Given the description of an element on the screen output the (x, y) to click on. 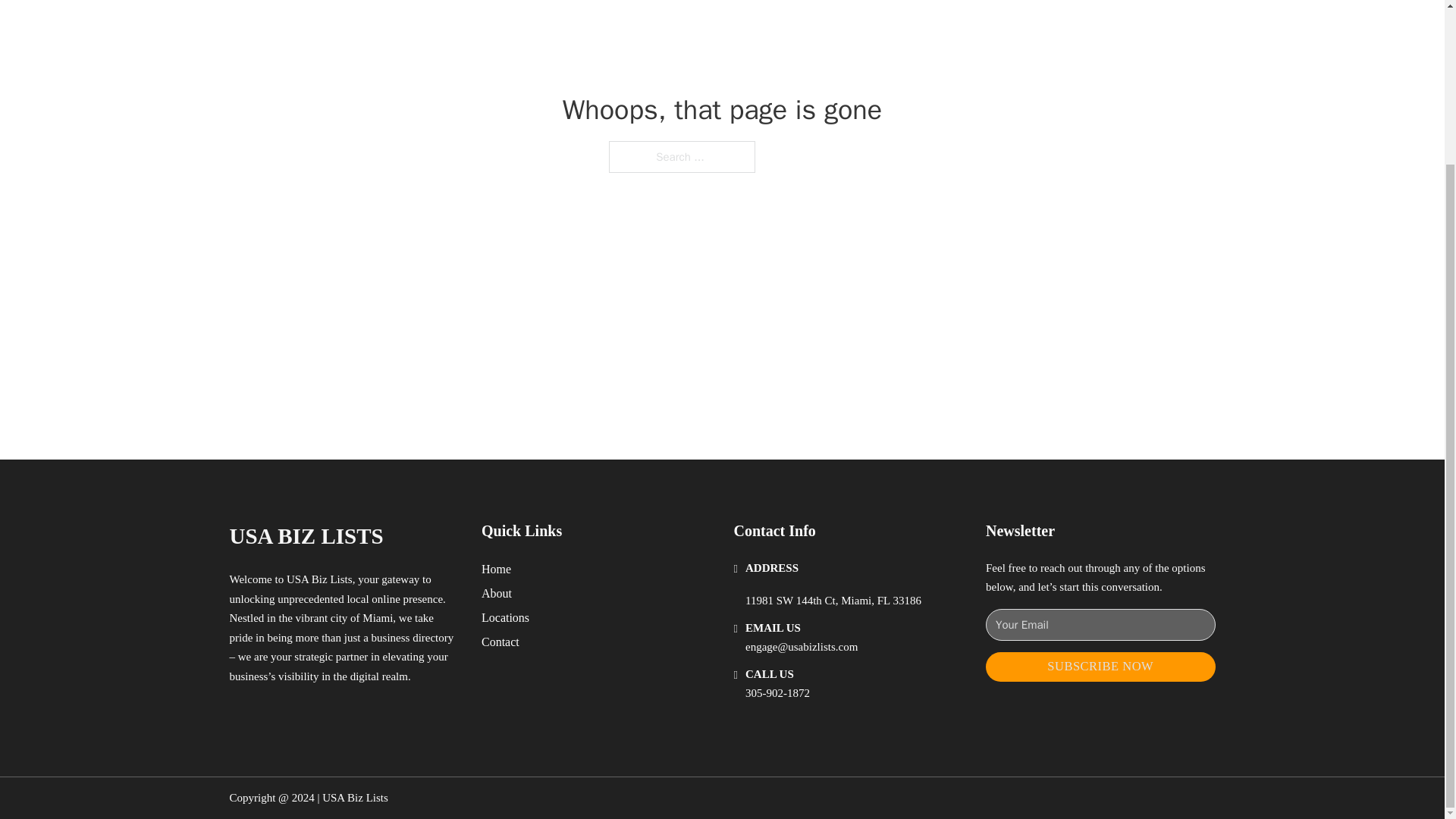
305-902-1872 (777, 693)
Locations (505, 617)
SUBSCRIBE NOW (1100, 666)
USA BIZ LISTS (305, 536)
Home (496, 568)
Contact (500, 641)
About (496, 593)
